Given the description of an element on the screen output the (x, y) to click on. 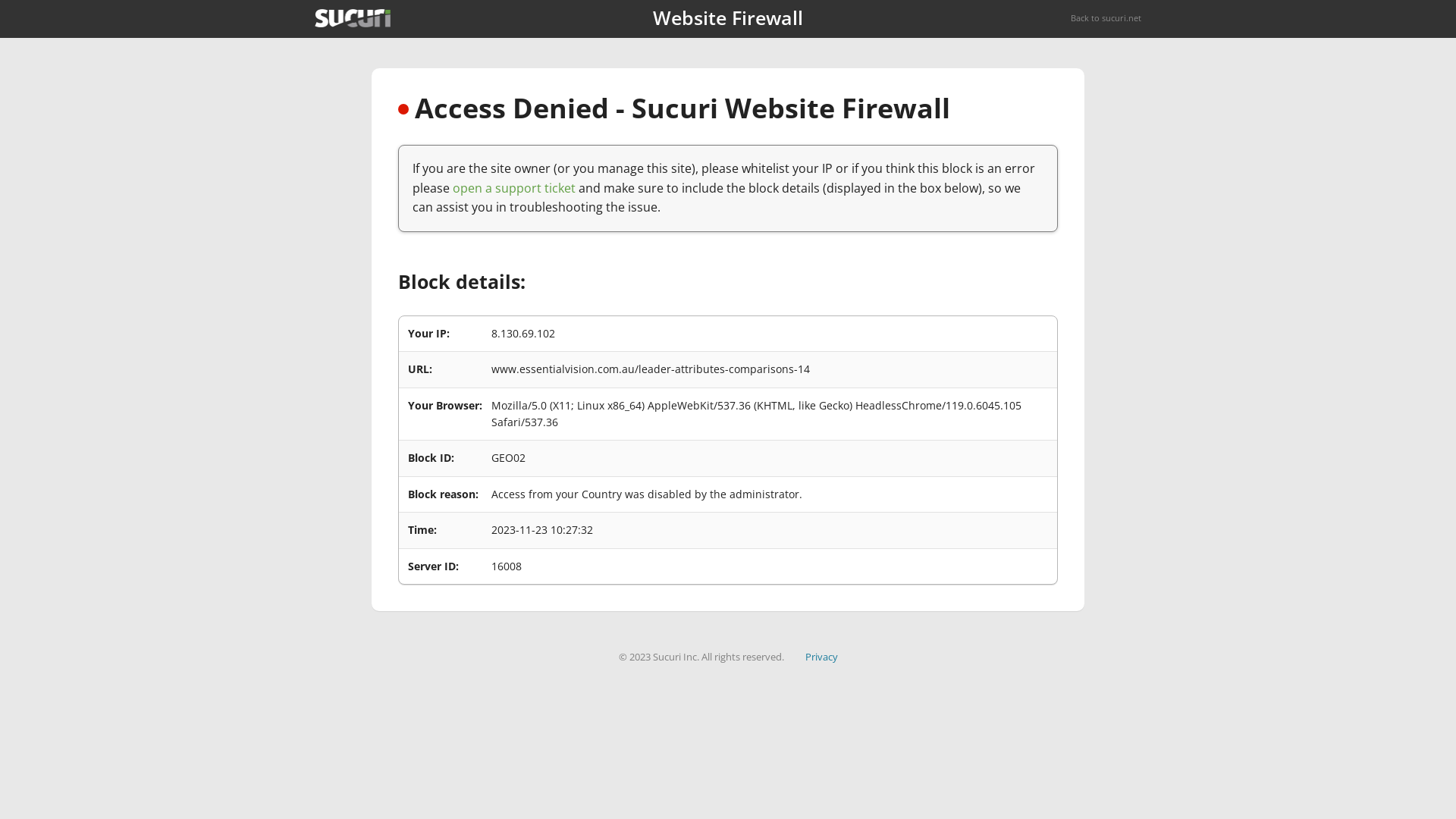
Privacy Element type: text (821, 656)
open a support ticket Element type: text (513, 187)
Back to sucuri.net Element type: text (1105, 18)
